Given the description of an element on the screen output the (x, y) to click on. 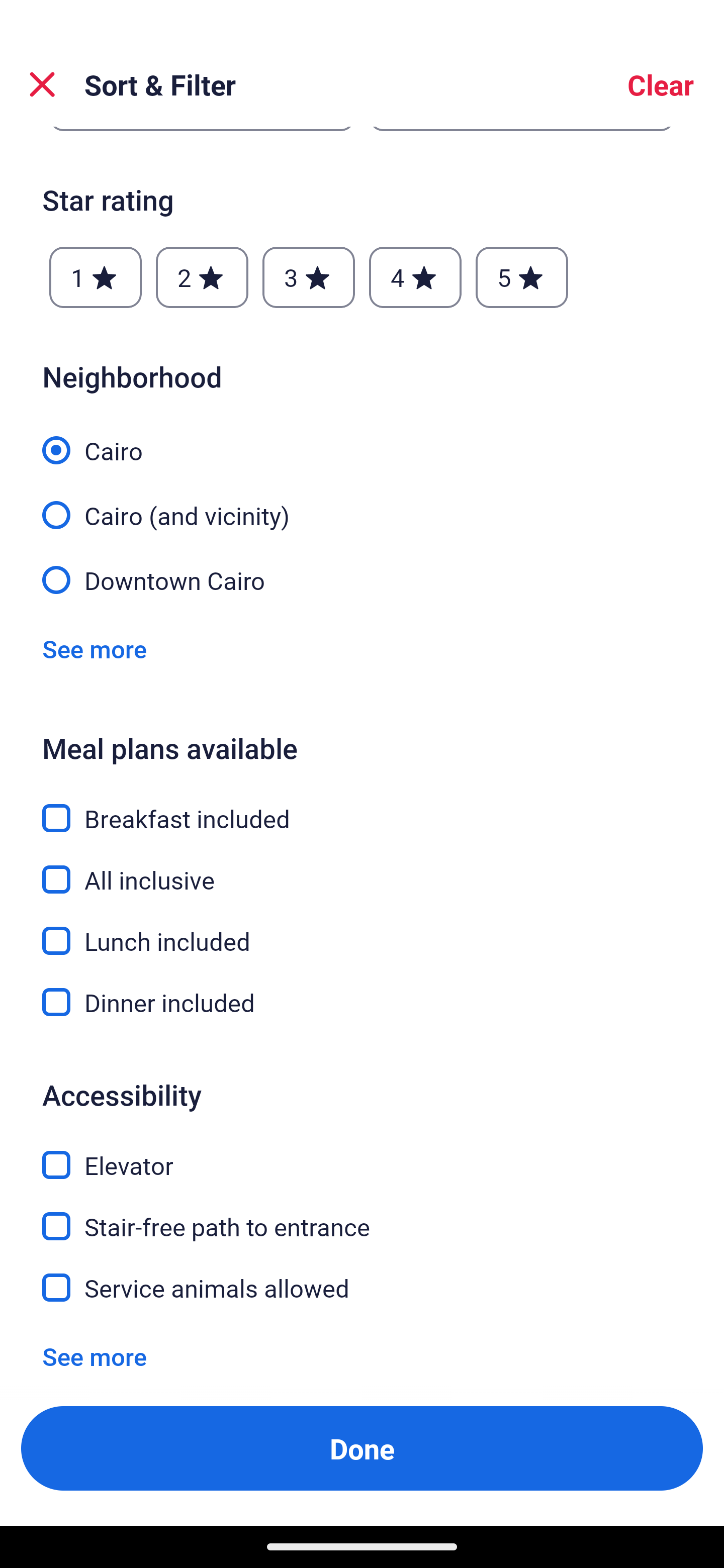
Close Sort and Filter (42, 84)
Clear (660, 84)
1 (95, 277)
2 (201, 277)
3 (308, 277)
4 (415, 277)
5 (521, 277)
Cairo (and vicinity) (361, 503)
Downtown Cairo (361, 578)
See more See more neighborhoods Link (93, 648)
Breakfast included, Breakfast included (361, 806)
All inclusive, All inclusive (361, 867)
Lunch included, Lunch included (361, 928)
Dinner included, Dinner included (361, 1001)
Elevator, Elevator (361, 1152)
Service animals allowed, Service animals allowed (361, 1287)
See more See more accessibility options Link (93, 1355)
Apply and close Sort and Filter Done (361, 1448)
